Given the description of an element on the screen output the (x, y) to click on. 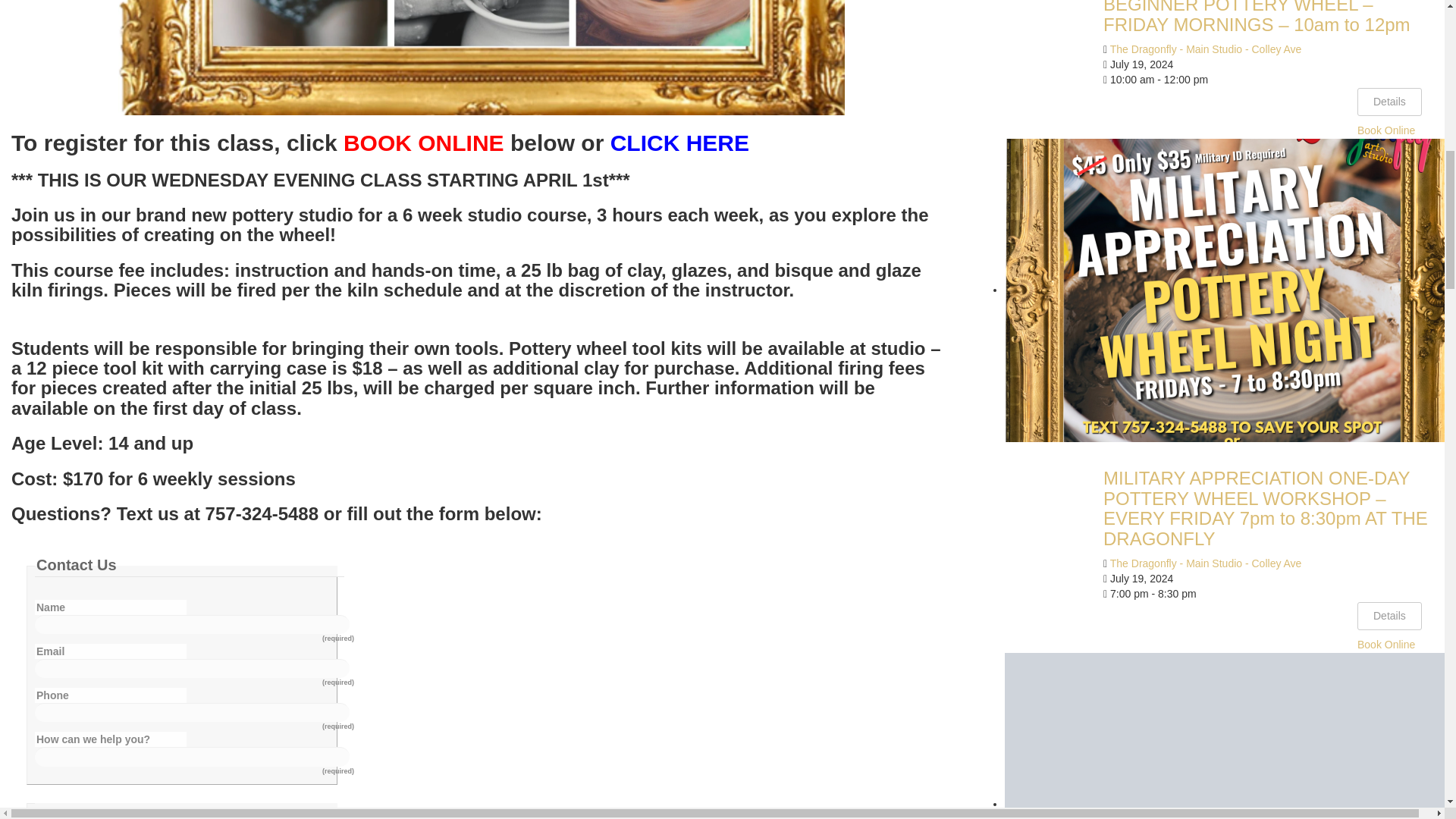
Book Online (1385, 644)
The Dragonfly - Main Studio - Colley Ave (1205, 49)
Details (1389, 101)
Book Online (1385, 130)
The Dragonfly - Main Studio - Colley Ave (1205, 563)
CLICK HERE (679, 142)
Details (1389, 615)
